Given the description of an element on the screen output the (x, y) to click on. 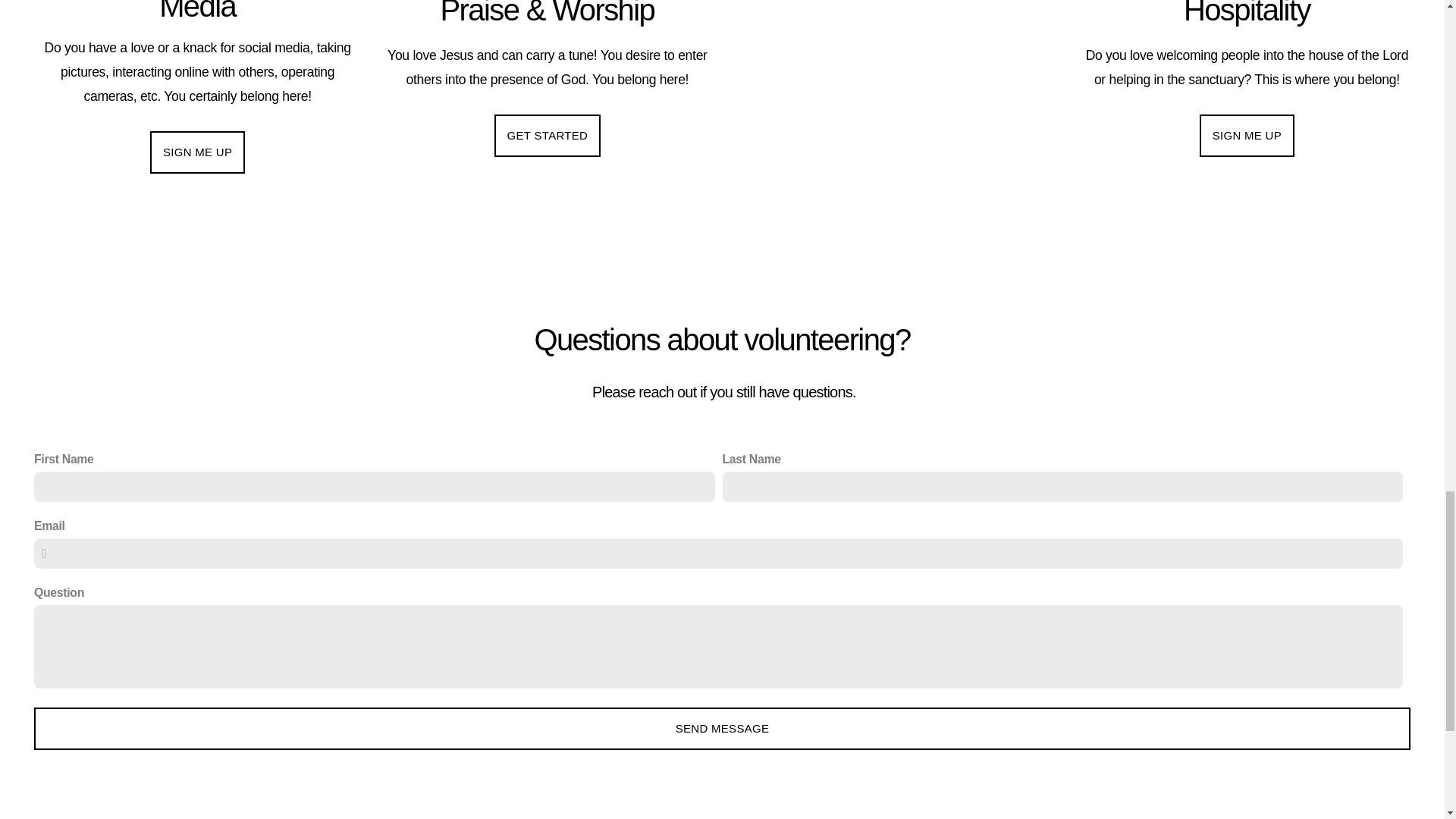
GET STARTED (548, 135)
SIGN ME UP (196, 152)
SIGN ME UP (1246, 135)
SEND MESSAGE (721, 728)
